Given the description of an element on the screen output the (x, y) to click on. 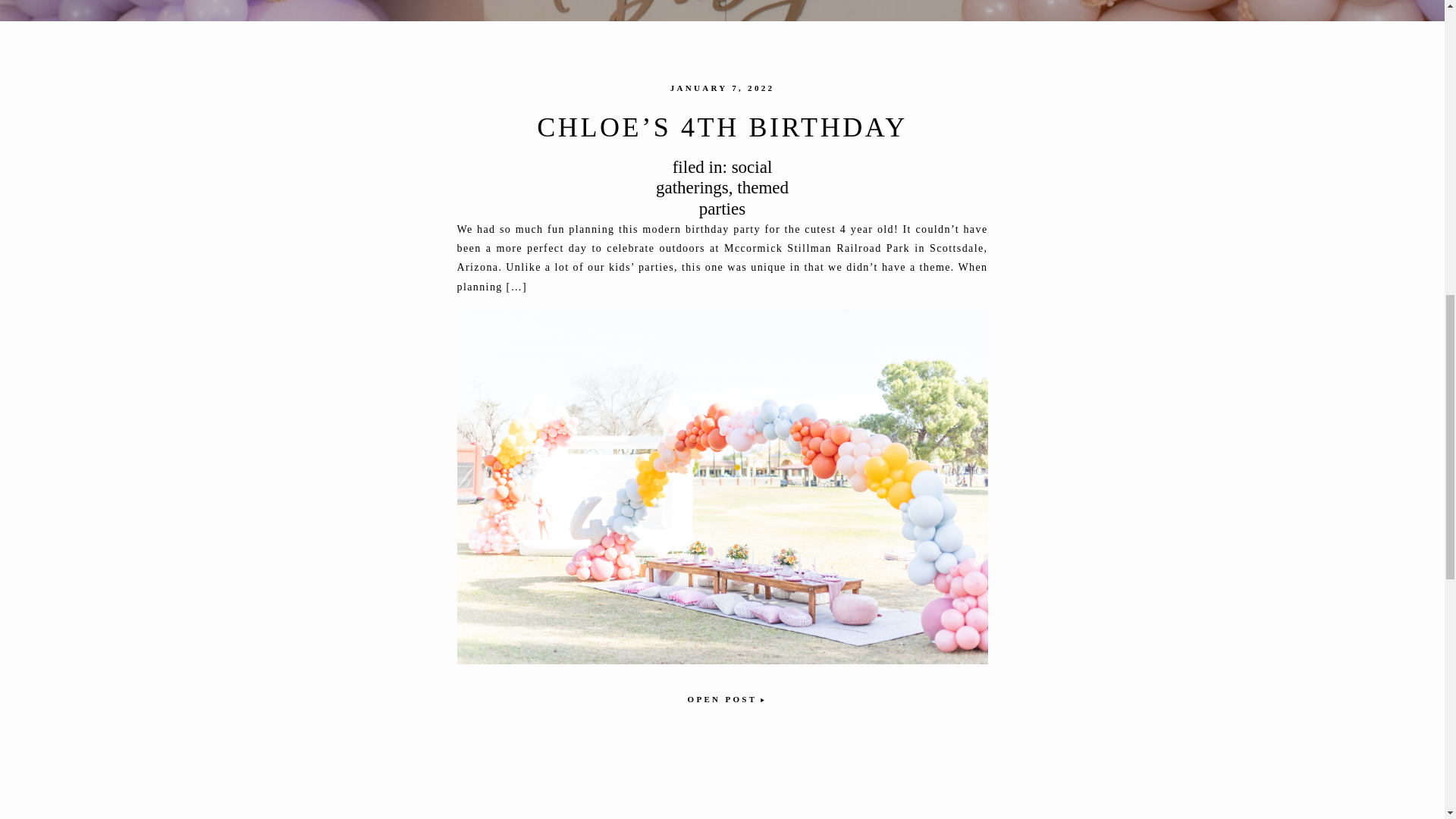
themed parties (743, 198)
social gatherings (713, 178)
OPEN POST (722, 698)
